Given the description of an element on the screen output the (x, y) to click on. 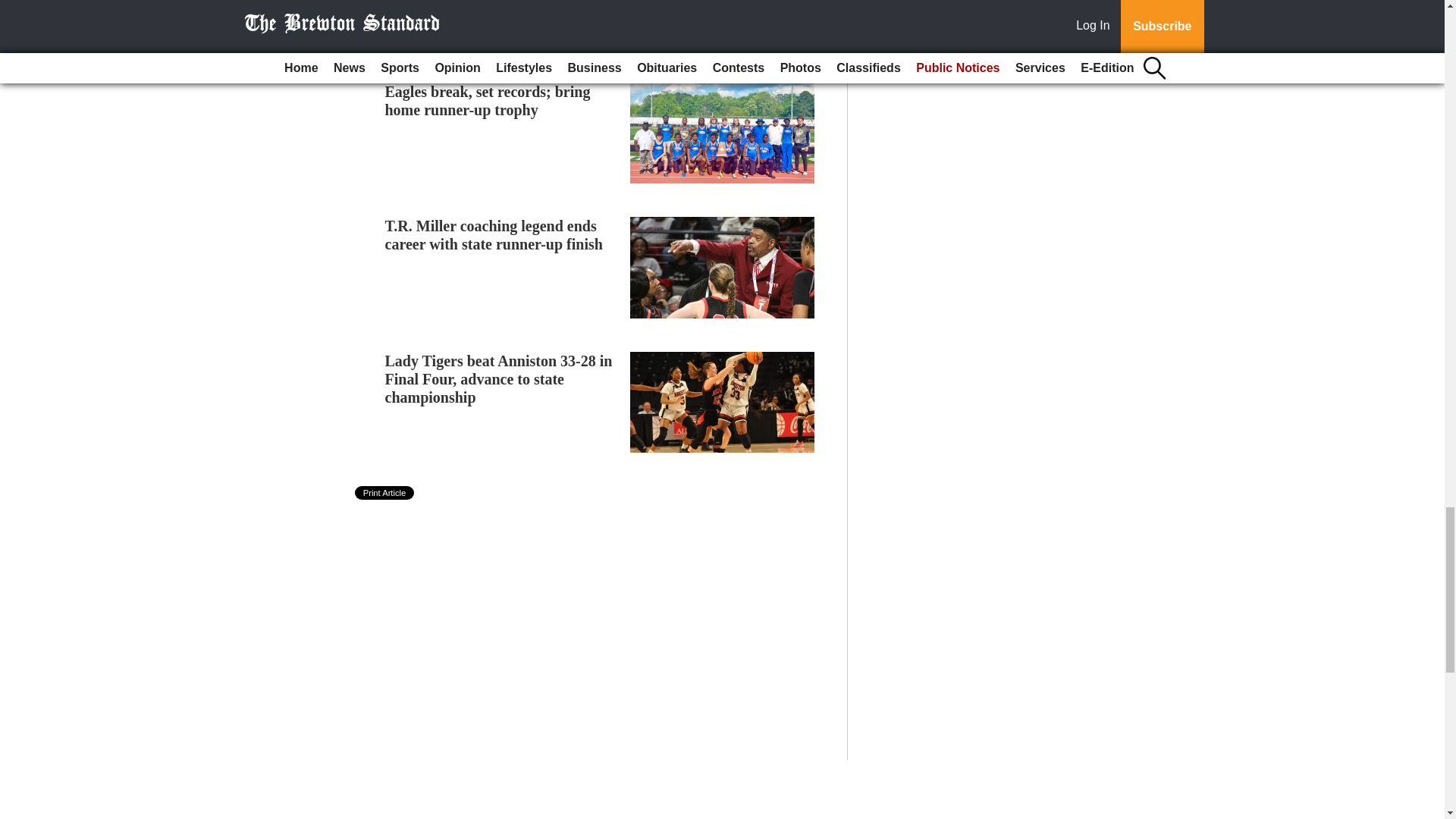
Eagles break, set records; bring home runner-up trophy (488, 100)
Eagles break, set records; bring home runner-up trophy (488, 100)
